Given the description of an element on the screen output the (x, y) to click on. 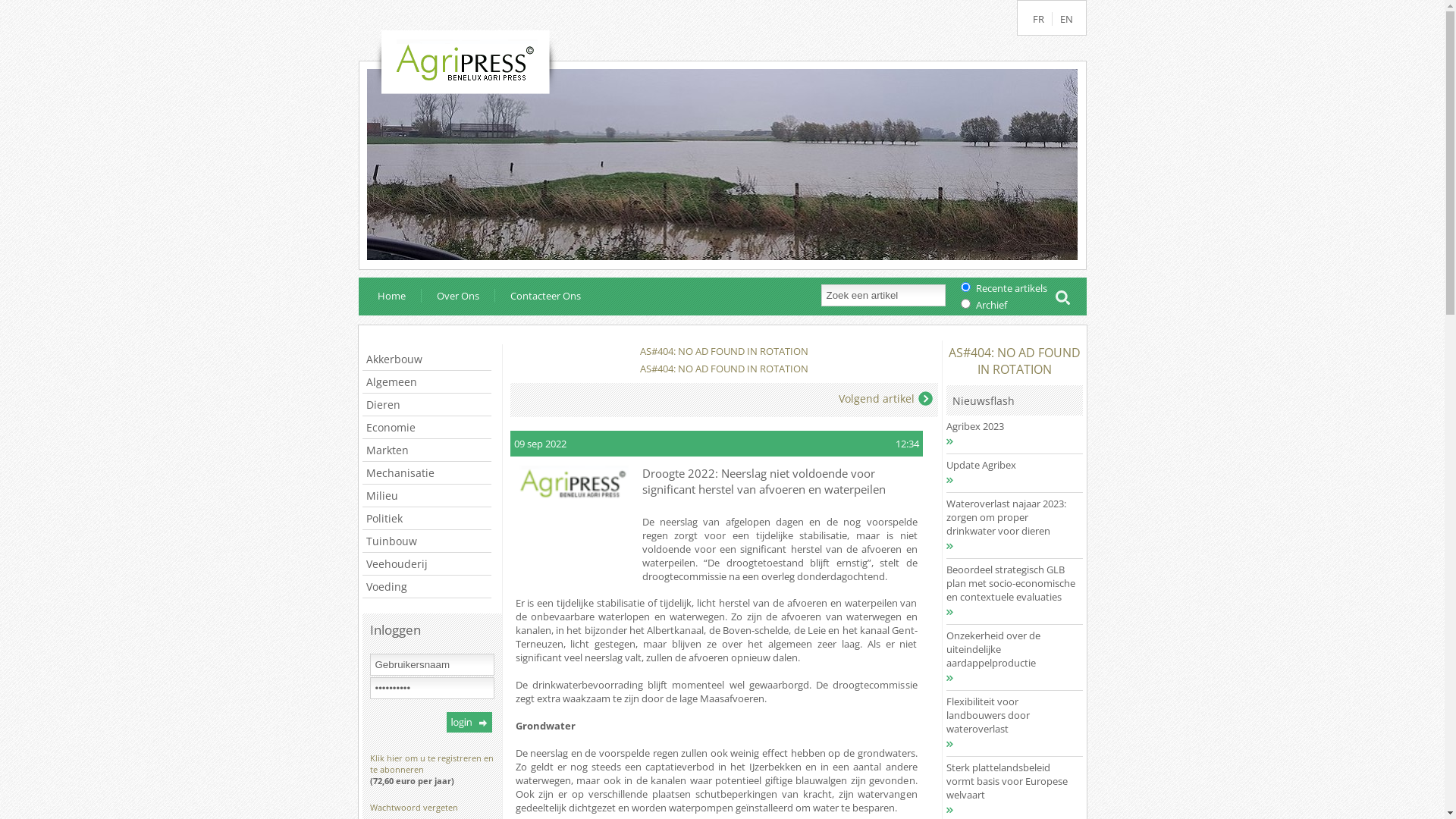
Sterk plattelandsbeleid vormt basis voor Europese welvaart Element type: text (1010, 780)
FR Element type: text (1041, 18)
Voeding Element type: text (426, 586)
Volgend artikel Element type: text (886, 398)
Lees meer Element type: text (979, 809)
Lees meer Element type: text (979, 743)
Veehouderij Element type: text (426, 563)
Lees meer Element type: text (979, 611)
AS#404: NO AD FOUND IN ROTATION Element type: text (1013, 360)
Tuinbouw Element type: text (426, 541)
Akkerbouw Element type: text (426, 359)
AS#404: NO AD FOUND IN ROTATION Element type: text (724, 368)
Wachtwoord Element type: text (432, 688)
Update Agribex Element type: text (1010, 464)
Economie Element type: text (426, 427)
Wachtwoord vergeten Element type: text (414, 806)
Onzekerheid over de uiteindelijke aardappelproductie Element type: text (1010, 648)
Algemeen Element type: text (426, 381)
EN Element type: text (1065, 18)
Lees meer Element type: text (979, 441)
Flexibiliteit voor landbouwers door wateroverlast Element type: text (1010, 714)
Lees meer Element type: text (979, 677)
Politiek Element type: text (426, 518)
Zoek een artikel Element type: text (882, 294)
Over Ons Element type: text (449, 295)
AS#404: NO AD FOUND IN ROTATION Element type: text (724, 350)
Dieren Element type: text (426, 404)
Lees meer Element type: text (979, 545)
Agribex 2023 Element type: text (1010, 426)
Markten Element type: text (426, 450)
Lees meer Element type: text (979, 479)
Home Element type: text (391, 295)
Klik hier om u te registreren en te abonneren Element type: text (431, 763)
Gebruikersnaam Element type: text (432, 664)
Contacteer Ons Element type: text (537, 295)
Mechanisatie Element type: text (426, 472)
Milieu Element type: text (426, 495)
